Given the description of an element on the screen output the (x, y) to click on. 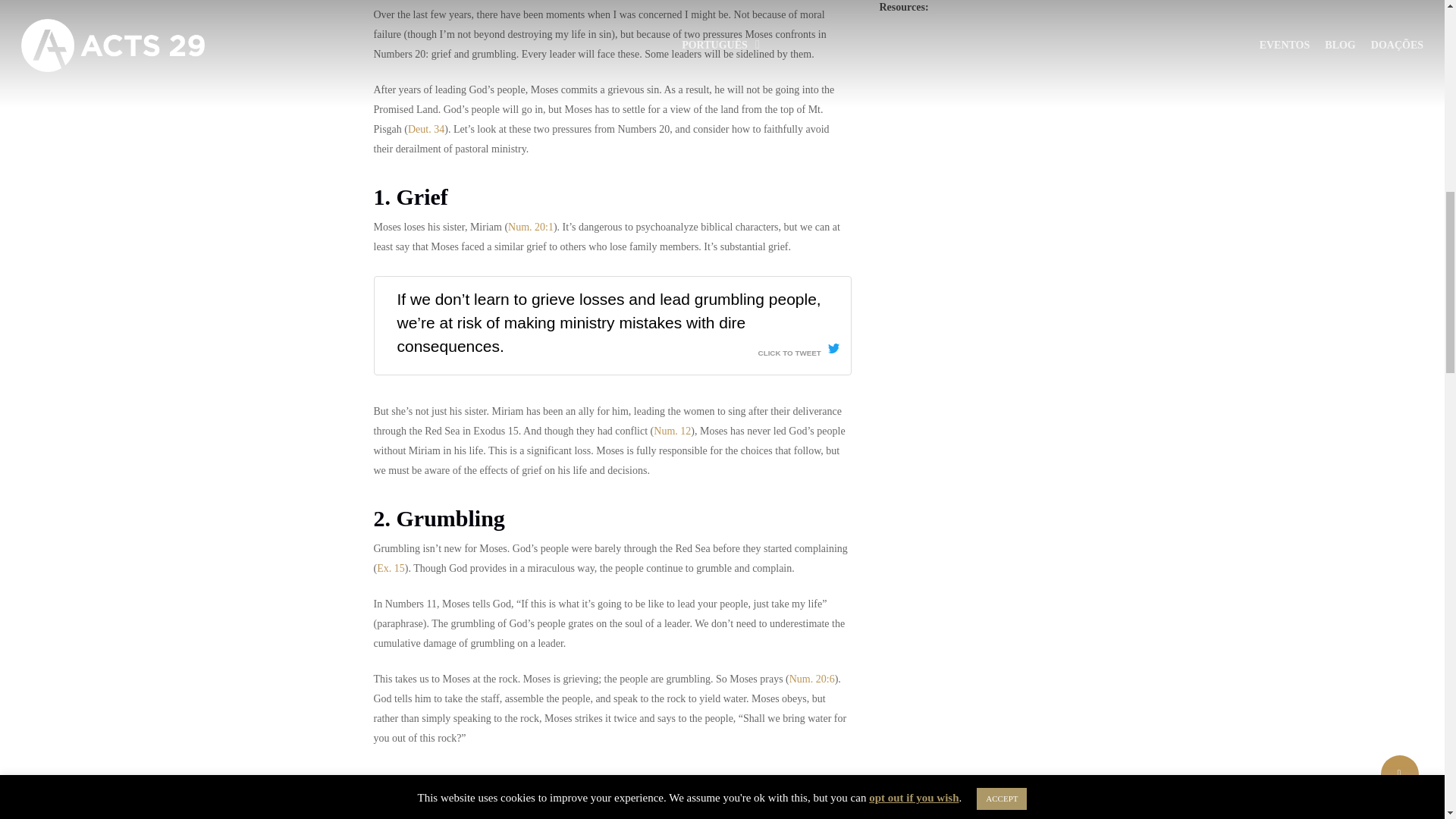
Deut. 34 (425, 129)
CLICK TO TWEET (799, 348)
Num. 20:6 (811, 678)
Num. 12 (671, 430)
Num. 20:1 (530, 226)
Ex. 15 (390, 568)
